Given the description of an element on the screen output the (x, y) to click on. 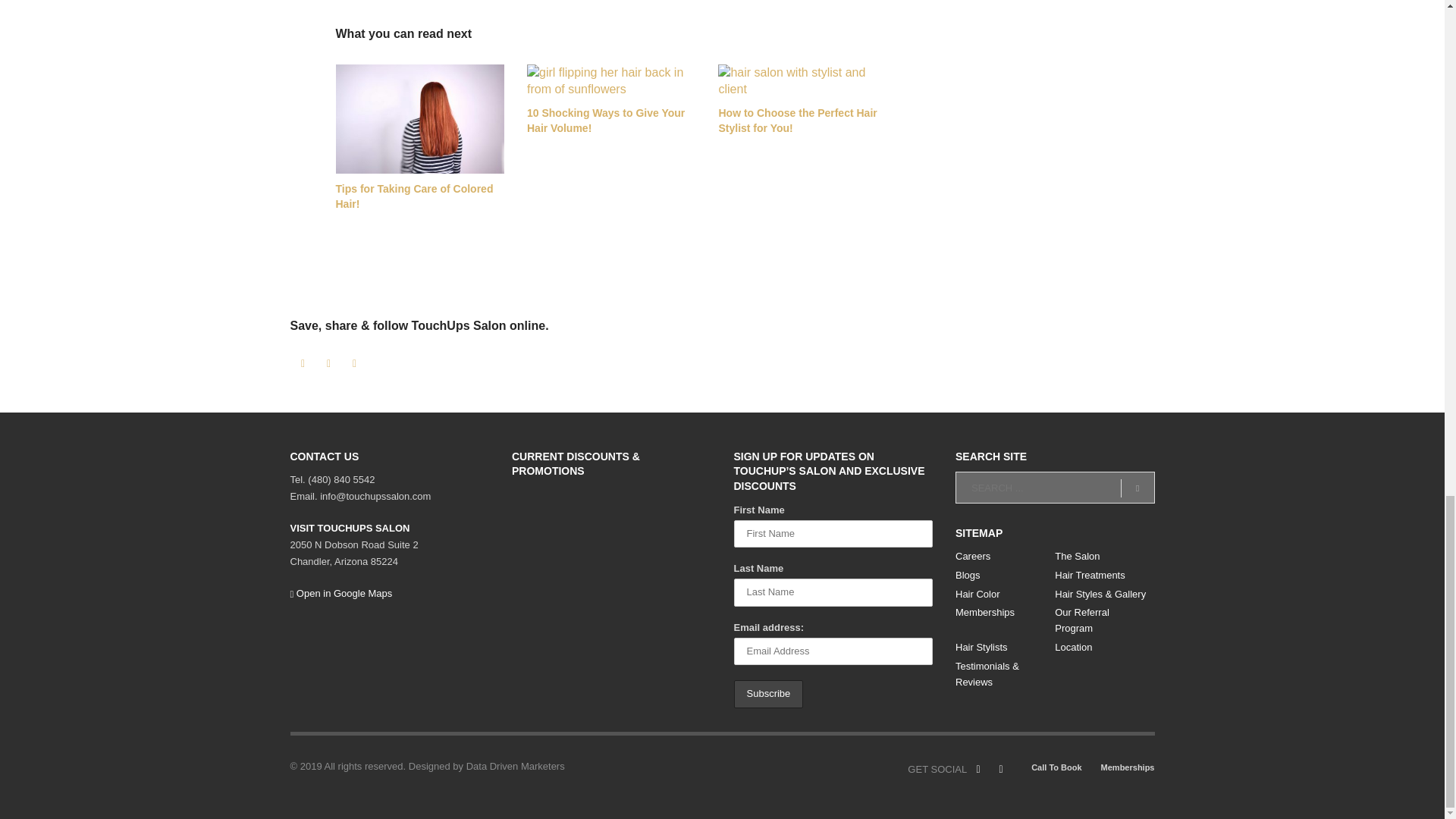
Like us on Facebook! (978, 769)
Subscribe (768, 694)
barber-brushes-chair-696287 (801, 80)
mariahredbyalexia (418, 118)
pexels-photo-1154452 (611, 80)
